Given the description of an element on the screen output the (x, y) to click on. 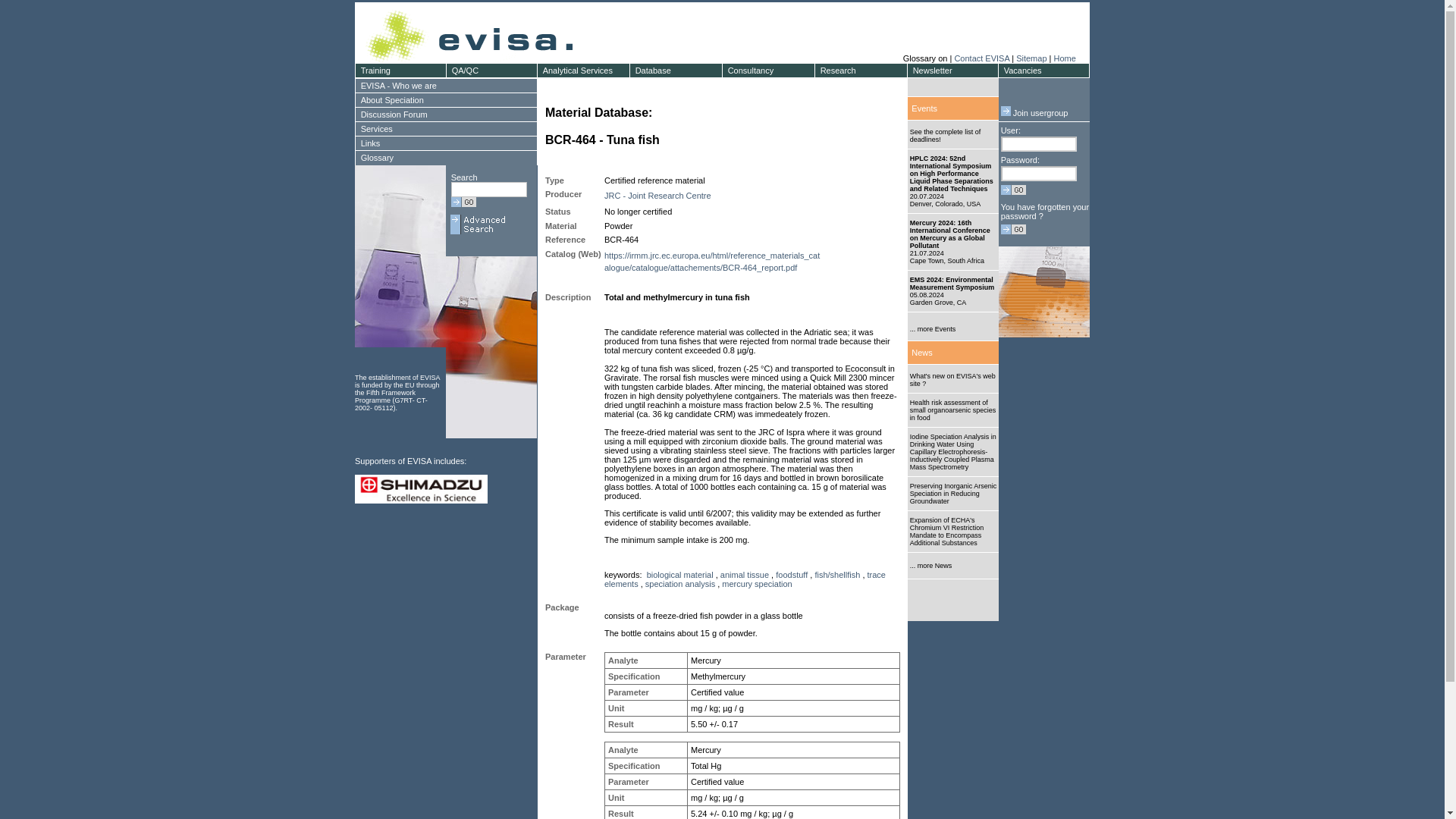
animal tissue (744, 574)
JRC - Joint Research Centre (657, 194)
Sitemap (1031, 58)
foodstuff (792, 574)
Home (1063, 58)
biological material (679, 574)
go (463, 202)
Contact EVISA (981, 58)
Glossary on (926, 58)
